Given the description of an element on the screen output the (x, y) to click on. 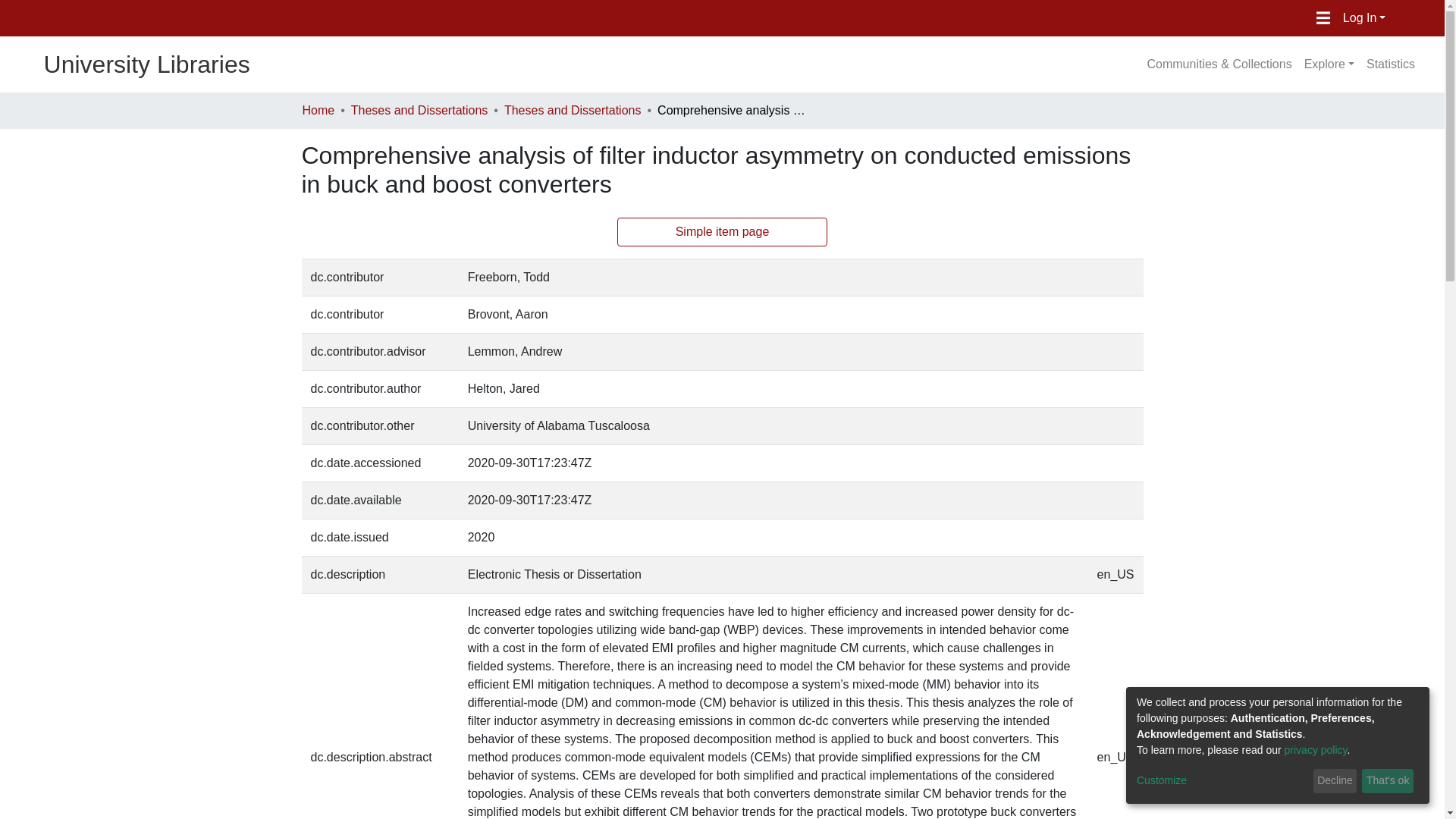
Customize (1222, 780)
Home (317, 110)
Theses and Dissertations (572, 110)
The University of Alabama (254, 18)
Explore (1328, 64)
University Libraries (125, 64)
Decline (1334, 781)
Statistics (1390, 64)
That's ok (1387, 781)
Theses and Dissertations (418, 110)
